Given the description of an element on the screen output the (x, y) to click on. 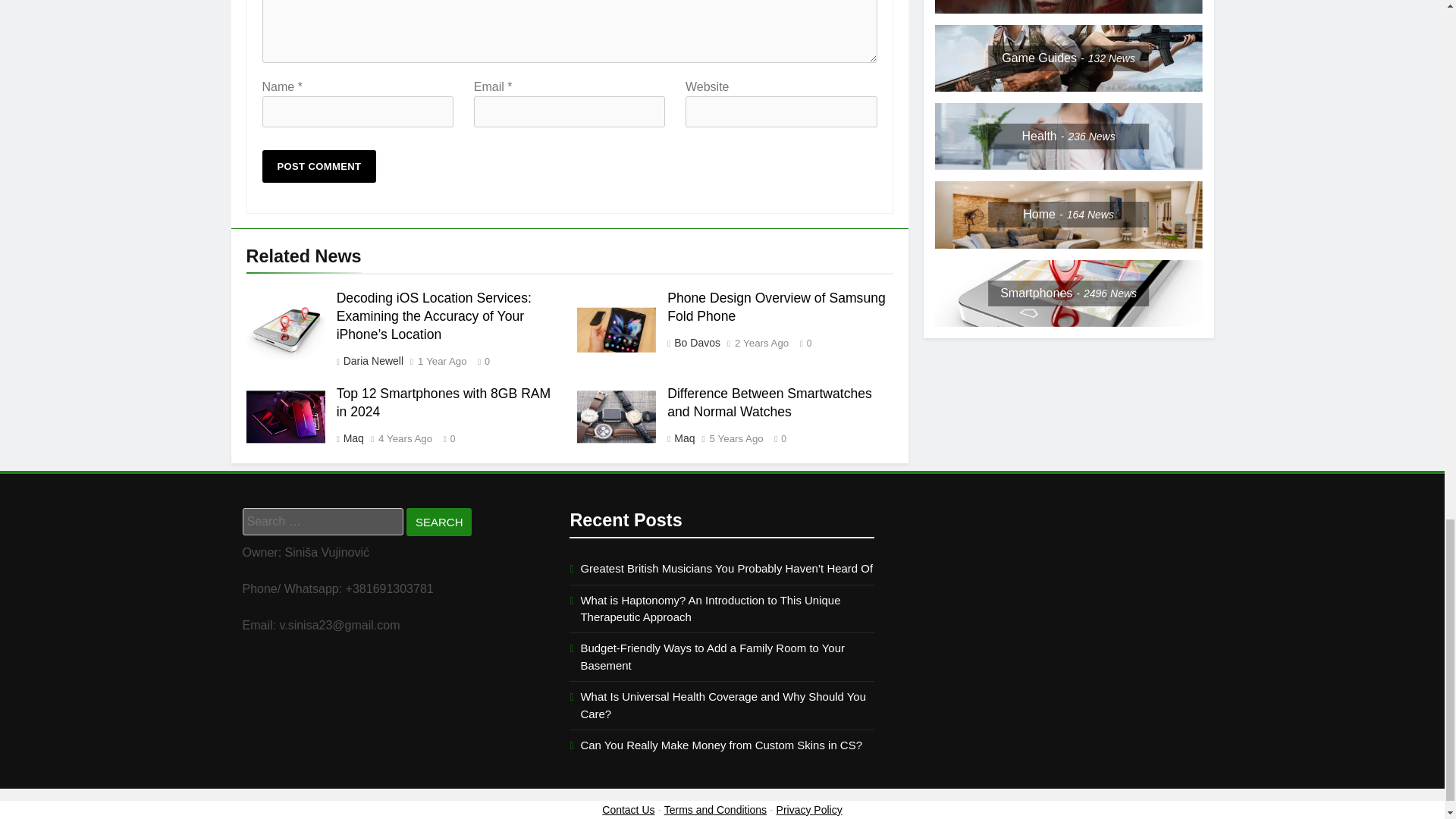
Search (438, 521)
Post Comment (319, 165)
Search (438, 521)
Post Comment (319, 165)
